Given the description of an element on the screen output the (x, y) to click on. 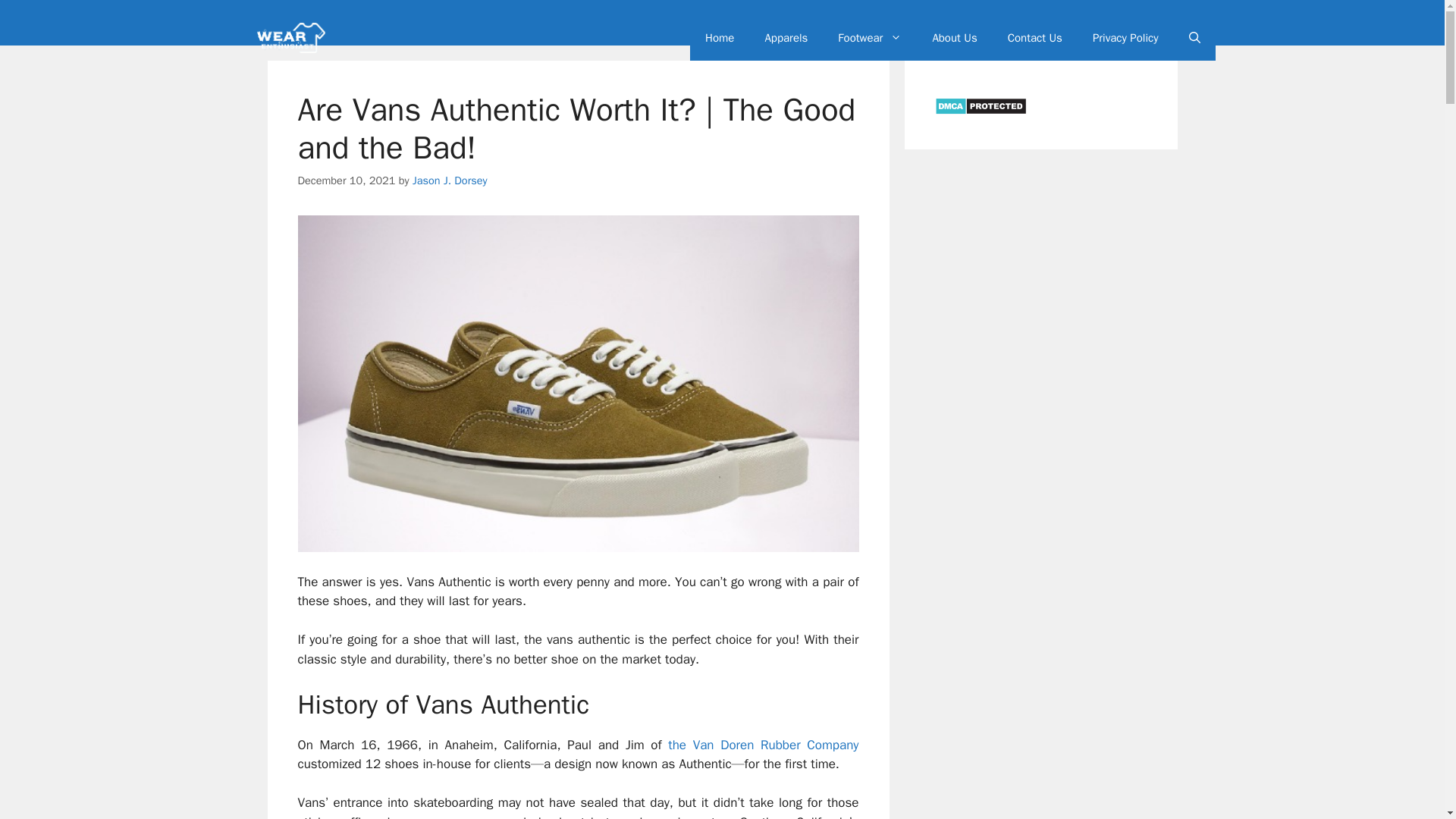
Footwear (869, 37)
Home (719, 37)
the Van Doren Rubber Company (763, 744)
View all posts by Jason J. Dorsey (449, 180)
Apparels (785, 37)
Jason J. Dorsey (449, 180)
Privacy Policy (1125, 37)
DMCA.com Protection Status (980, 111)
Contact Us (1034, 37)
About Us (954, 37)
